Given the description of an element on the screen output the (x, y) to click on. 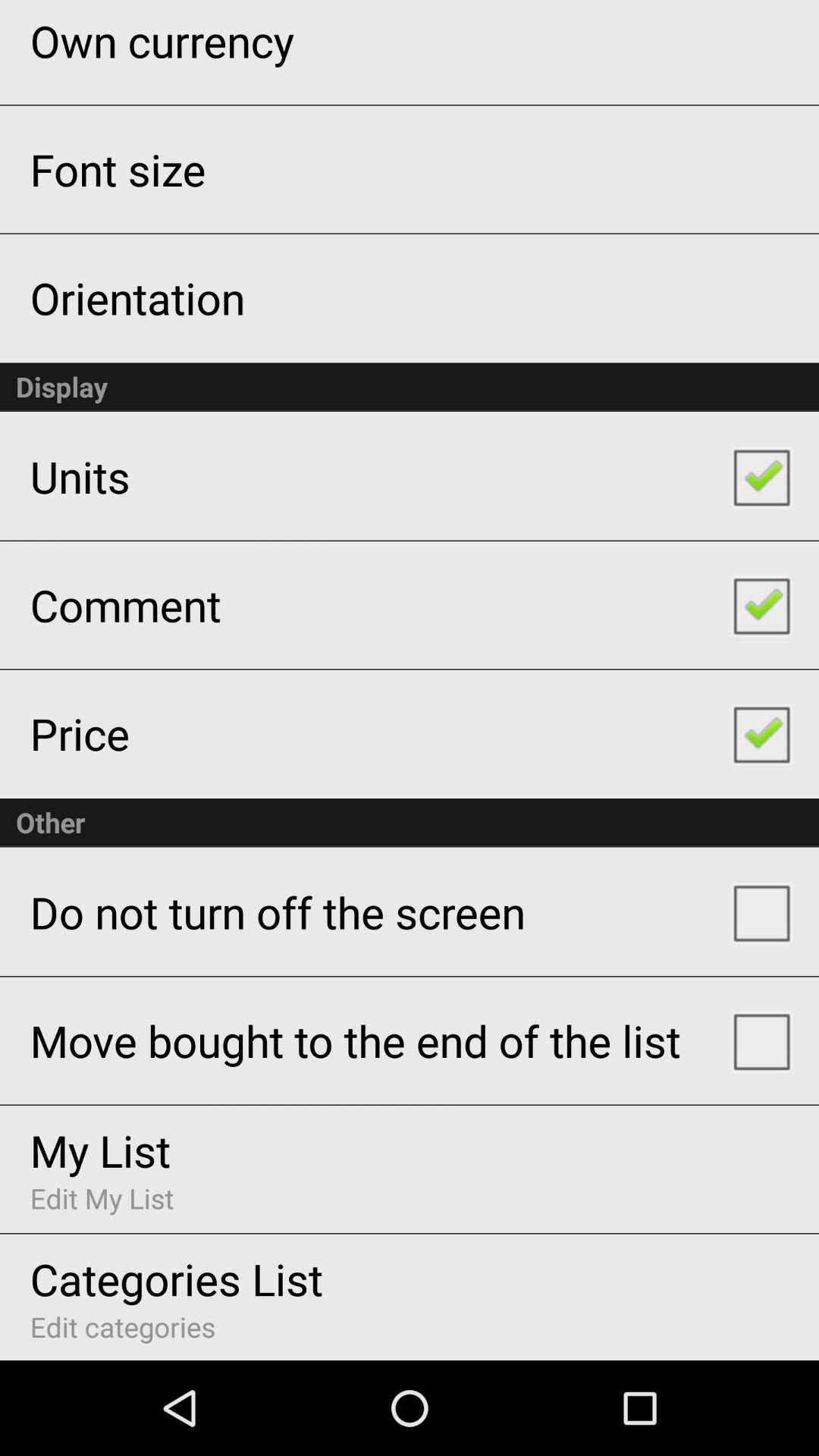
turn off the item below the own currency app (117, 168)
